Given the description of an element on the screen output the (x, y) to click on. 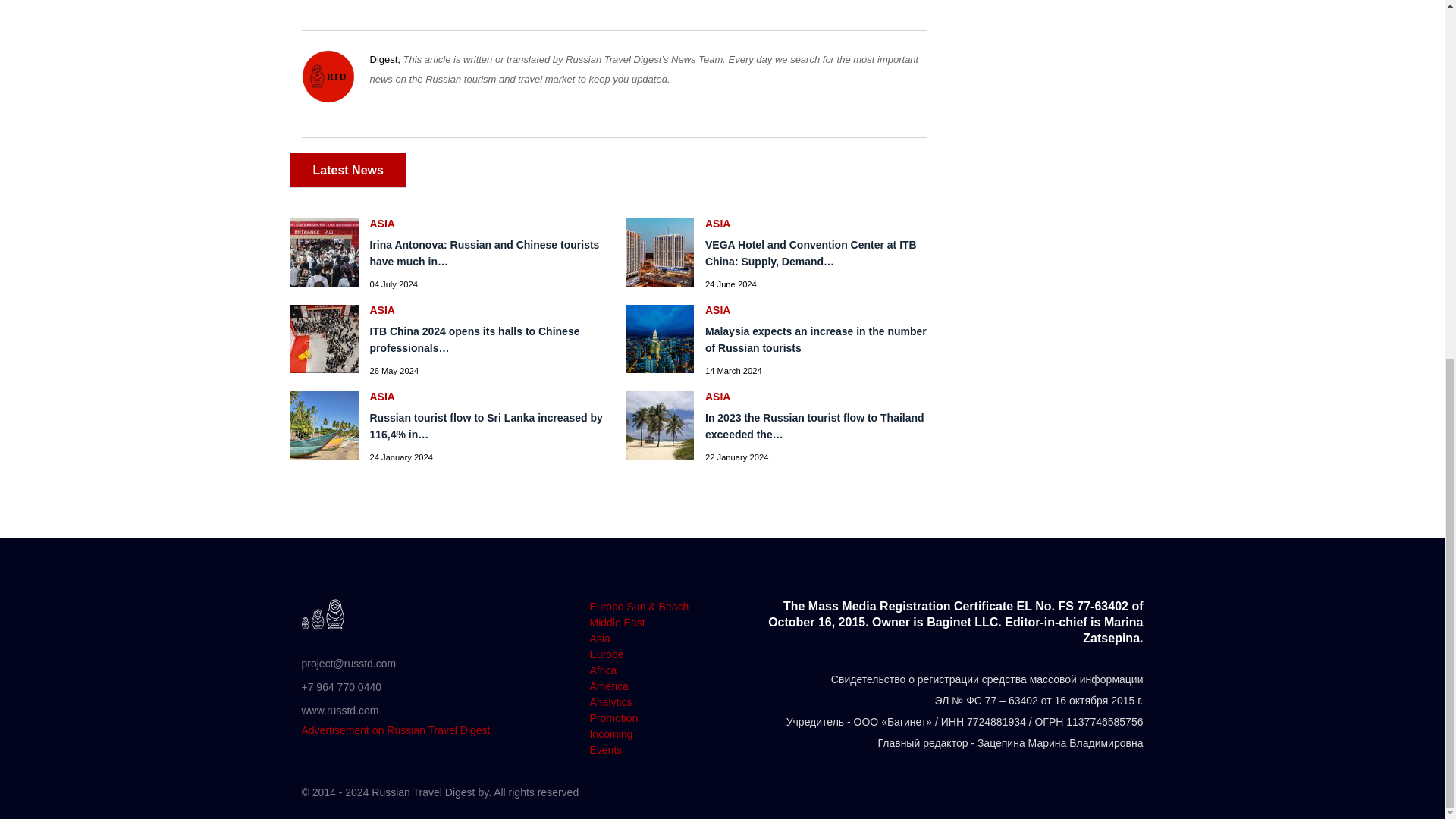
ASIA (821, 396)
ASIA (486, 396)
ASIA (821, 223)
ASIA (486, 309)
ASIA (486, 223)
ASIA (821, 309)
